Given the description of an element on the screen output the (x, y) to click on. 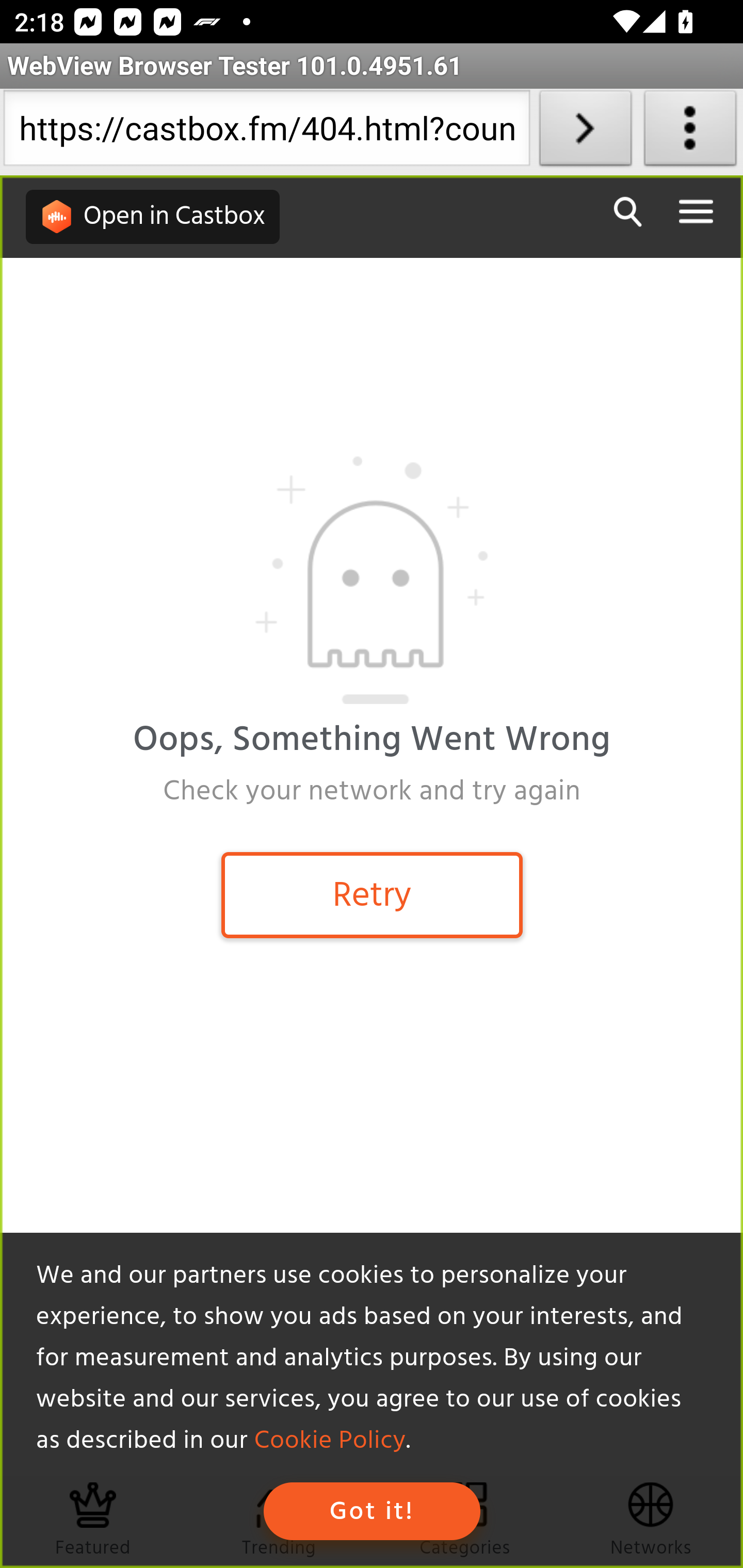
https://castbox.fm/404.html?country=us (266, 132)
Load URL (585, 132)
About WebView (690, 132)
Retry (371, 894)
Cookie Policy (329, 1440)
Got it! (371, 1511)
